Given the description of an element on the screen output the (x, y) to click on. 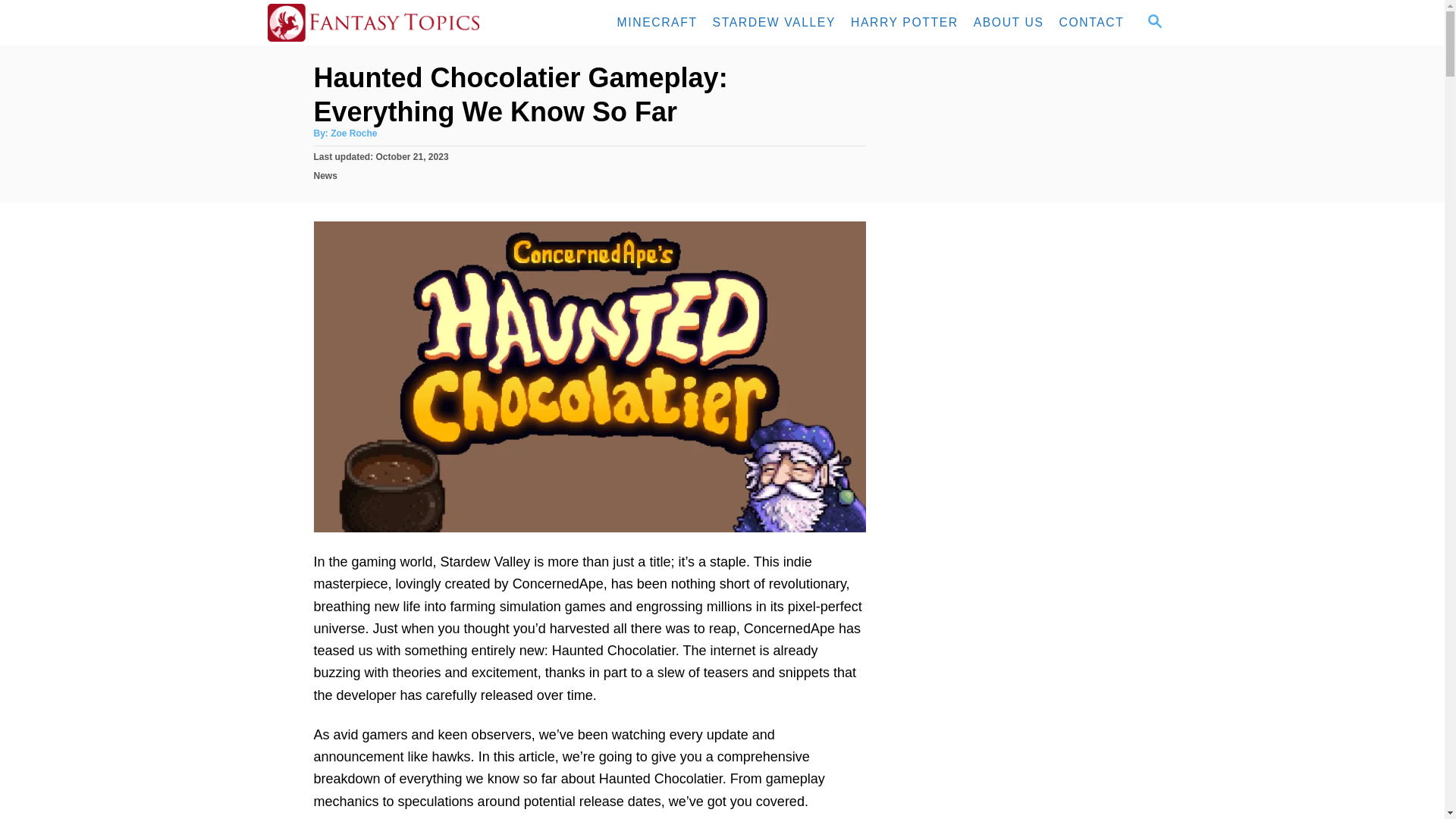
Zoe Roche (353, 132)
STARDEW VALLEY (773, 22)
HARRY POTTER (904, 22)
Fantasy Topics (403, 22)
ABOUT US (1008, 22)
CONTACT (1091, 22)
News (325, 174)
MINECRAFT (657, 22)
SEARCH (1153, 22)
